Given the description of an element on the screen output the (x, y) to click on. 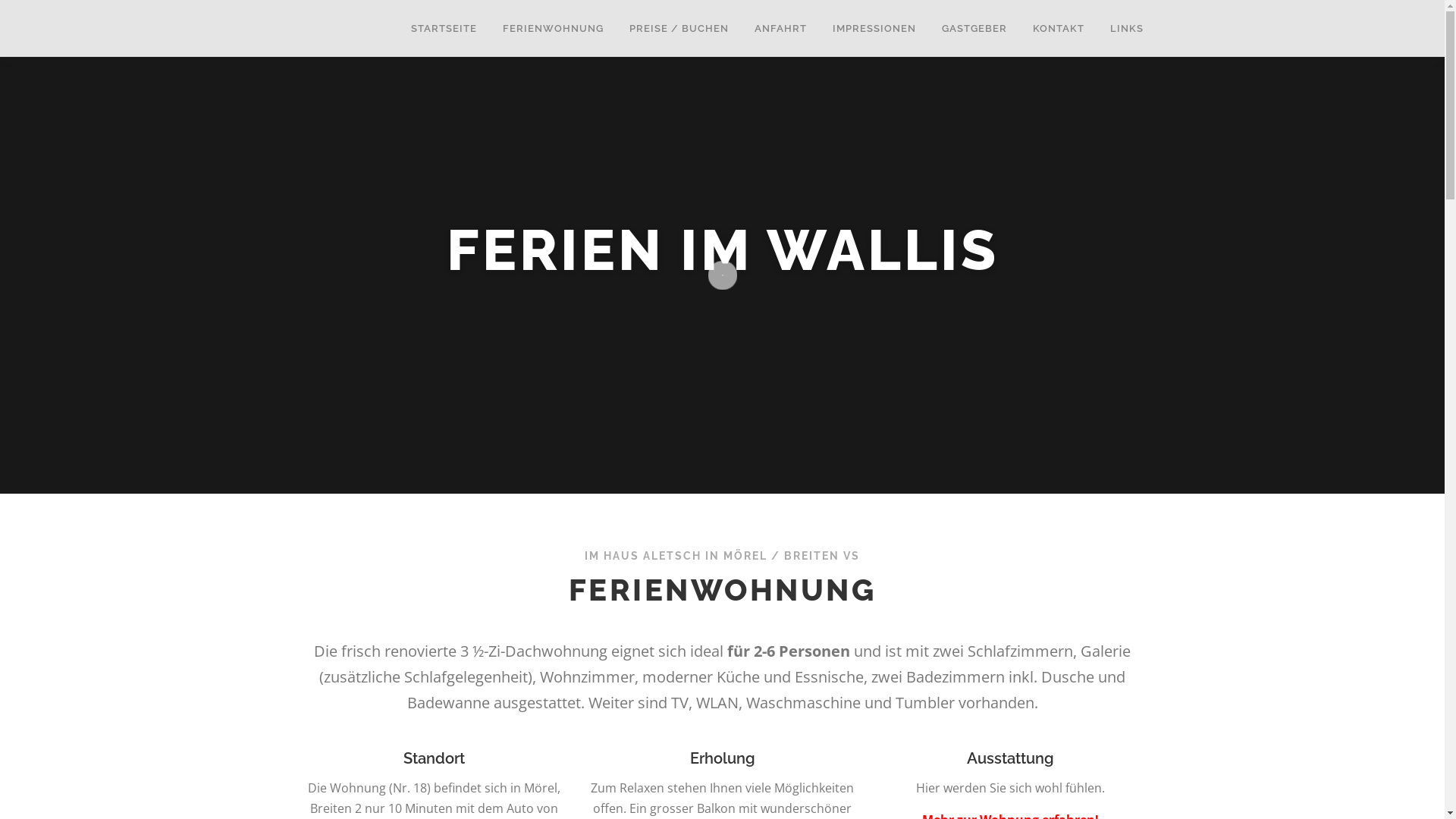
ANFAHRT Element type: text (780, 28)
KONTAKT Element type: text (1057, 28)
FERIENWOHNUNG Element type: text (552, 28)
IMPRESSIONEN Element type: text (873, 28)
Standort Element type: text (433, 758)
STARTSEITE Element type: text (443, 28)
GASTGEBER Element type: text (973, 28)
LINKS Element type: text (1119, 28)
PREISE / BUCHEN Element type: text (677, 28)
Zum Inhalt springen Element type: text (51, 9)
